Given the description of an element on the screen output the (x, y) to click on. 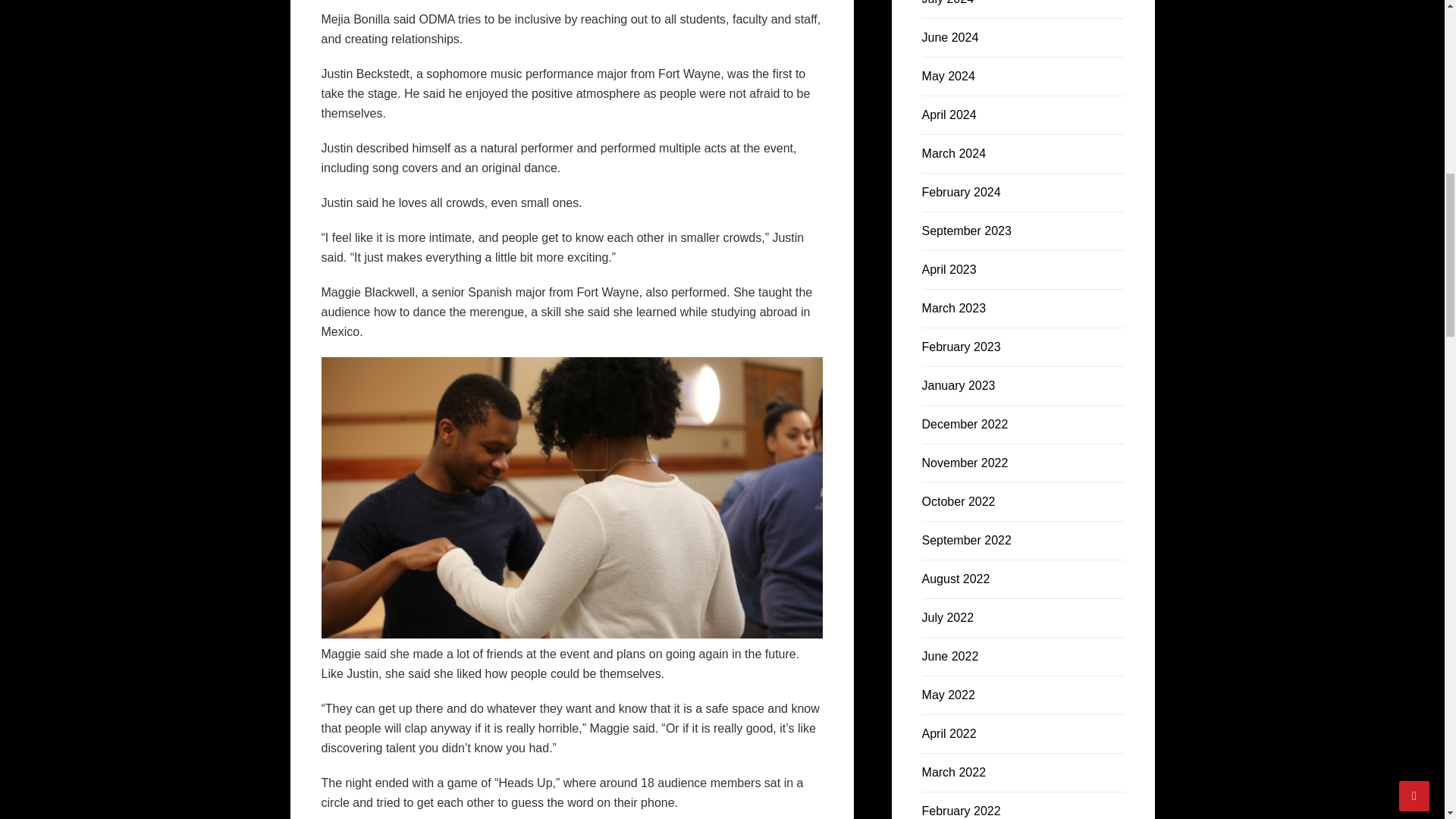
April 2024 (948, 114)
January 2023 (958, 385)
December 2022 (965, 423)
June 2024 (949, 37)
April 2023 (948, 269)
September 2022 (966, 540)
November 2022 (965, 462)
March 2023 (954, 308)
March 2024 (954, 153)
February 2023 (961, 346)
July 2022 (947, 617)
June 2022 (949, 656)
August 2022 (955, 578)
July 2024 (947, 2)
May 2024 (948, 75)
